Given the description of an element on the screen output the (x, y) to click on. 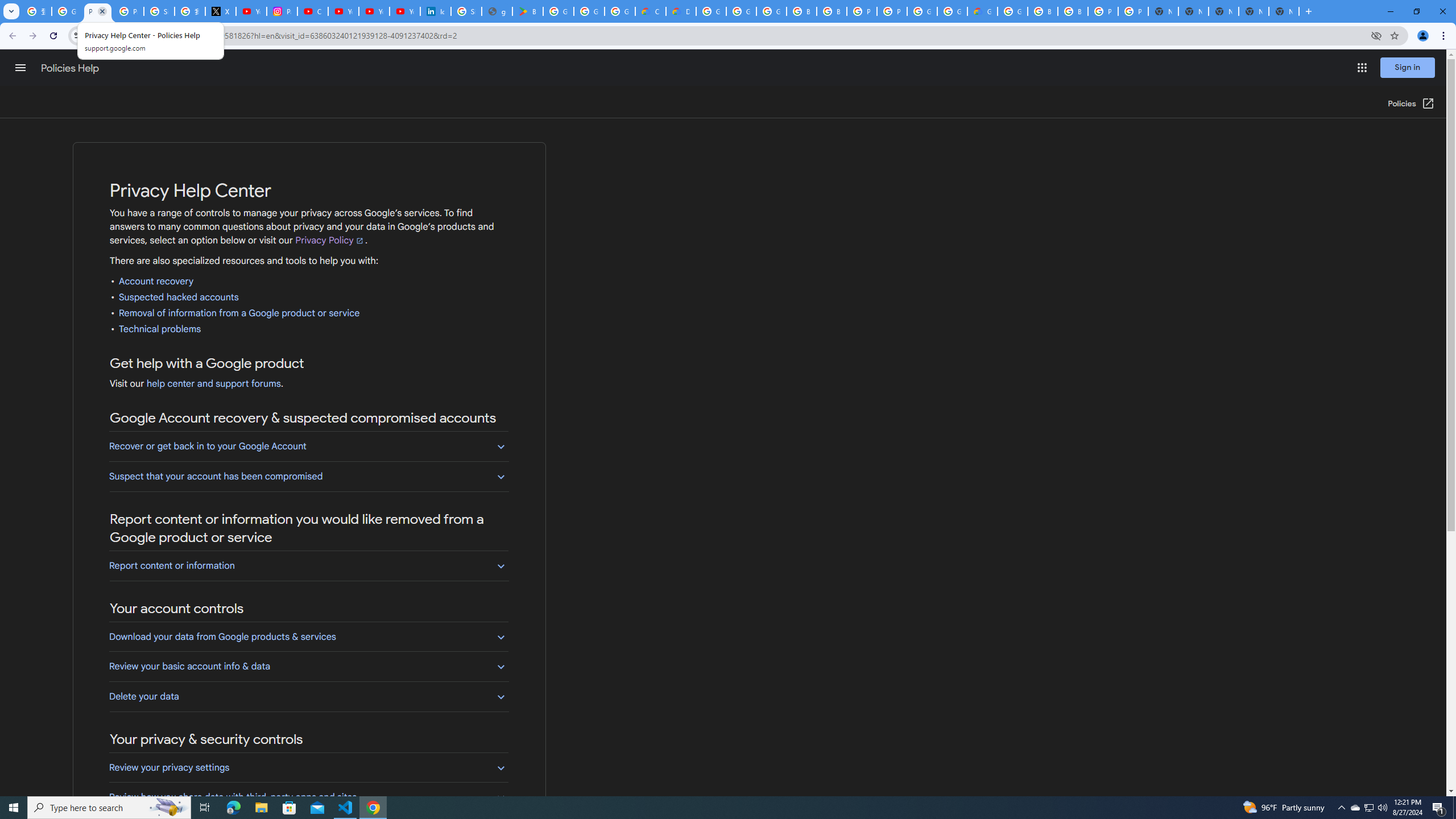
Sign in - Google Accounts (465, 11)
Review how you share data with third-party apps and sites (308, 797)
Google Workspace - Specific Terms (589, 11)
Report content or information (308, 565)
Suspected hacked accounts (178, 297)
Policies (Open in a new window) (1411, 103)
Browse Chrome as a guest - Computer - Google Chrome Help (801, 11)
